Given the description of an element on the screen output the (x, y) to click on. 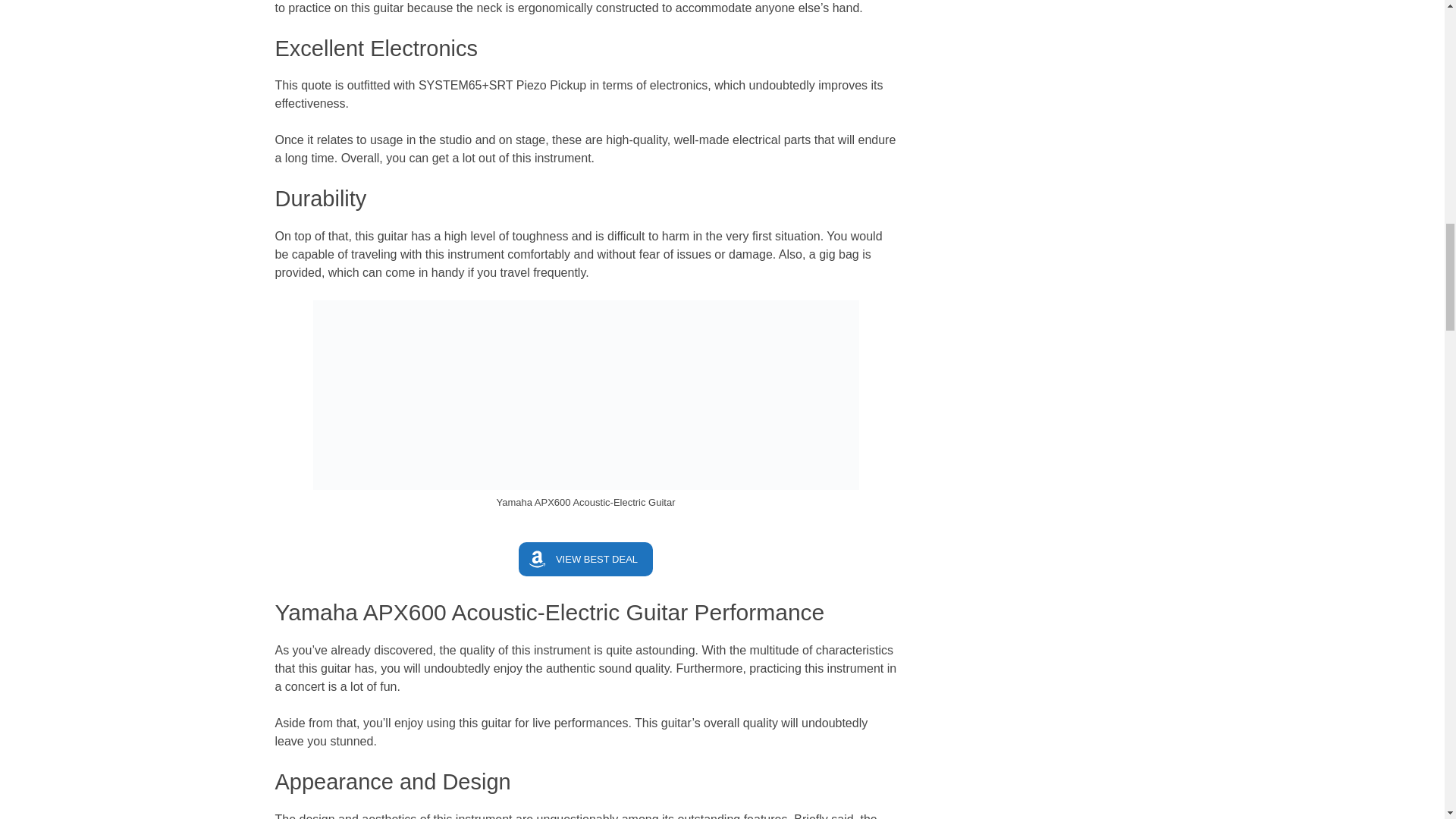
VIEW BEST DEAL (585, 559)
